Given the description of an element on the screen output the (x, y) to click on. 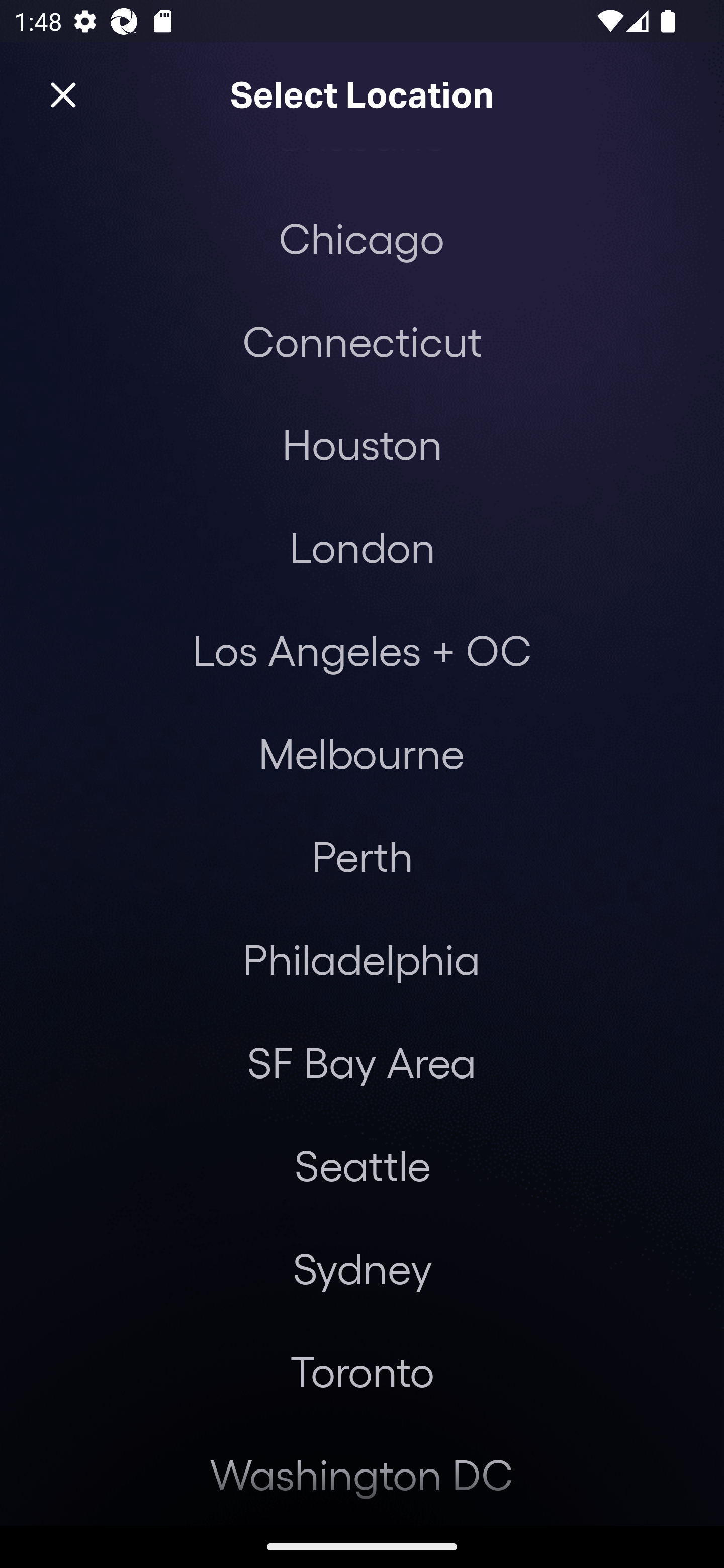
Close (62, 95)
Brisbane (361, 166)
Chicago (361, 238)
Connecticut (361, 341)
Houston (361, 443)
London (361, 546)
Los Angeles + OC (361, 649)
Melbourne (361, 752)
Perth (361, 855)
Philadelphia (361, 959)
SF Bay Area (361, 1062)
Seattle (361, 1164)
Sydney (361, 1268)
Toronto (361, 1371)
Washington DC (361, 1473)
